Given the description of an element on the screen output the (x, y) to click on. 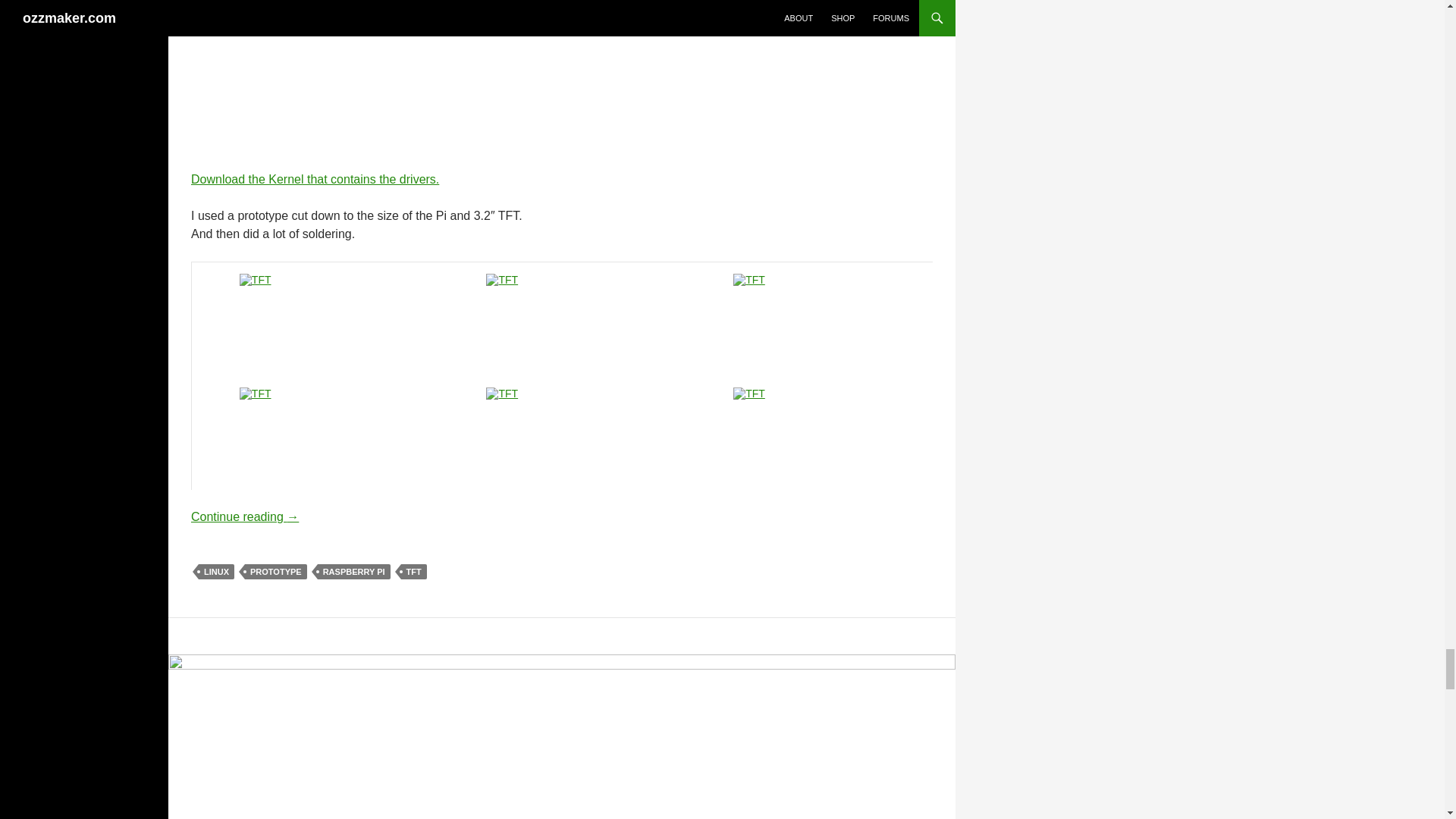
Download the Kernel that contains the drivers here. (314, 178)
